Given the description of an element on the screen output the (x, y) to click on. 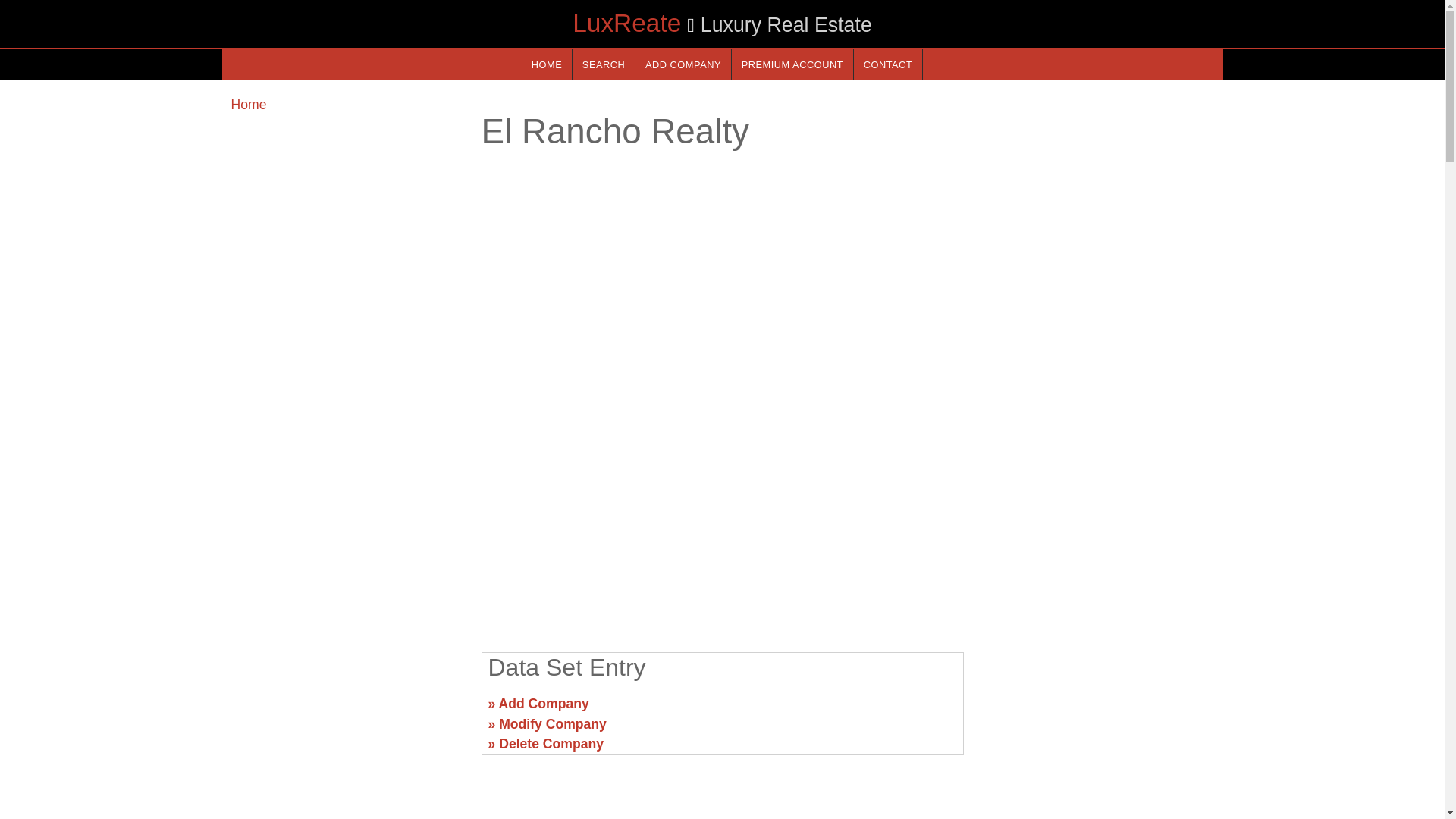
Advertisement (721, 522)
Premium account (792, 64)
Advertisement (346, 710)
LuxReate (626, 22)
PREMIUM ACCOUNT (792, 64)
Home (248, 104)
ADD COMPANY (682, 64)
SEARCH (603, 64)
Add a new company (682, 64)
Advertisement (1096, 710)
